Given the description of an element on the screen output the (x, y) to click on. 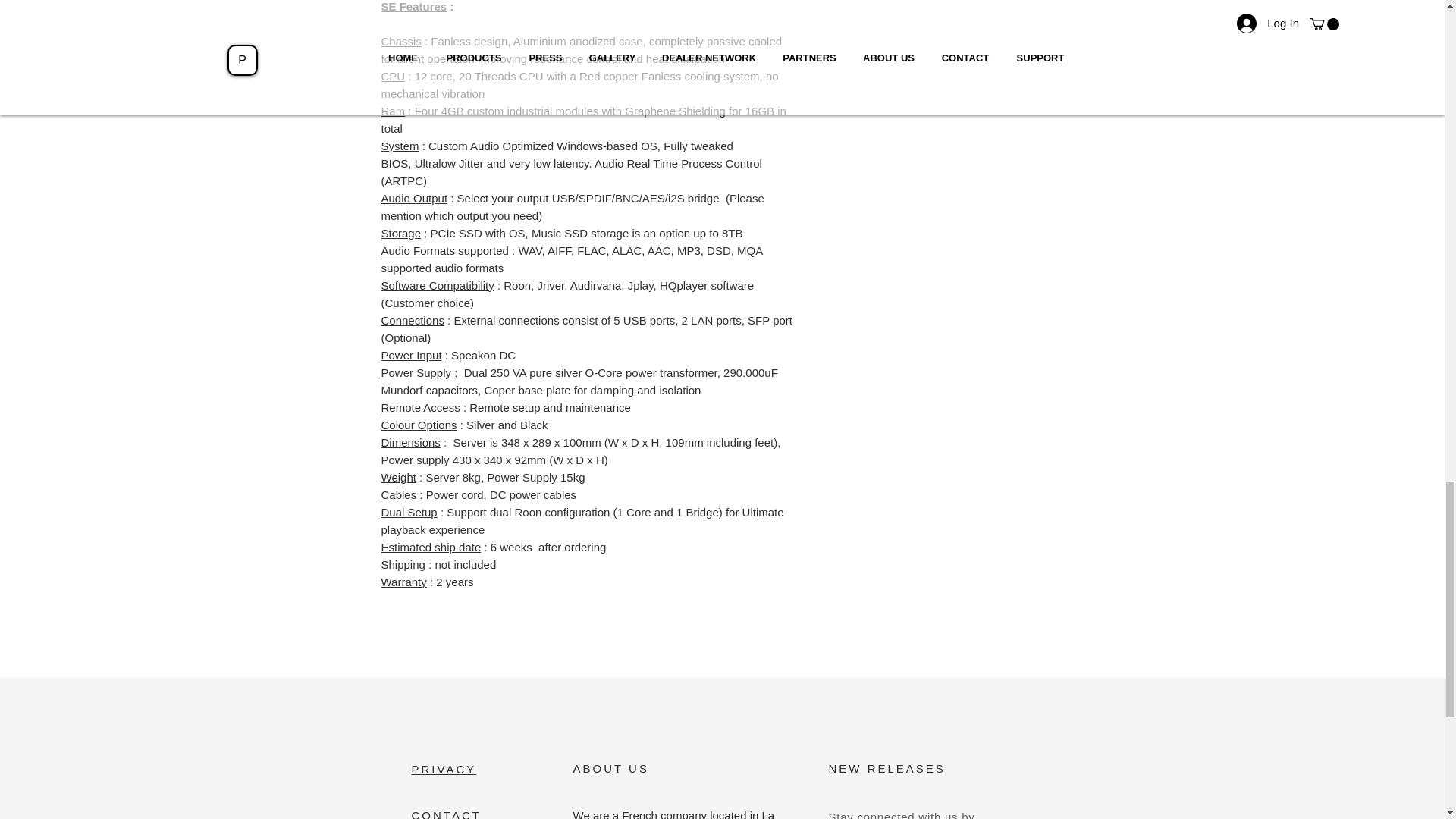
PRIVACY (443, 768)
CONTACT (445, 814)
